Given the description of an element on the screen output the (x, y) to click on. 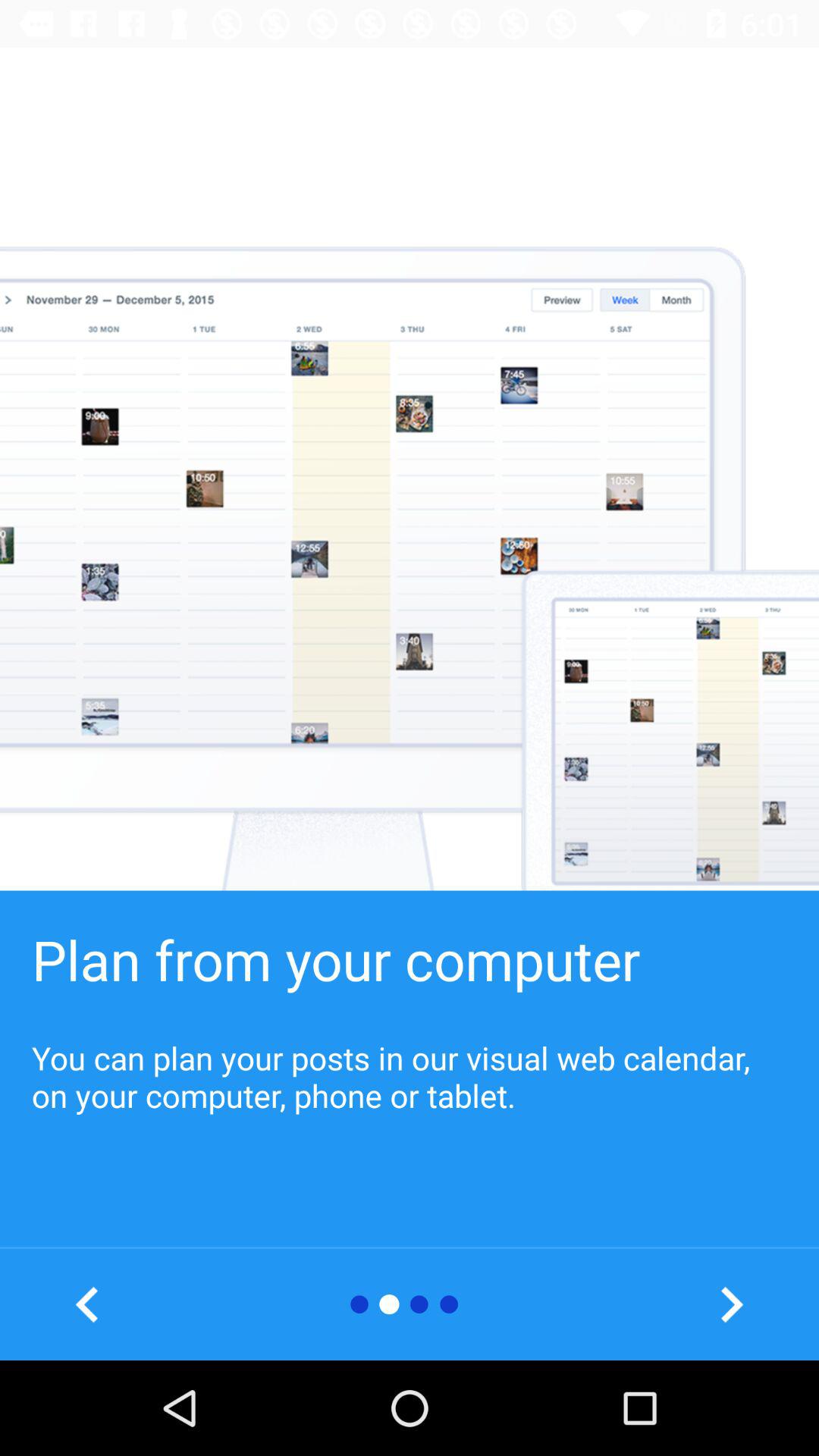
to move ahead (731, 1304)
